Given the description of an element on the screen output the (x, y) to click on. 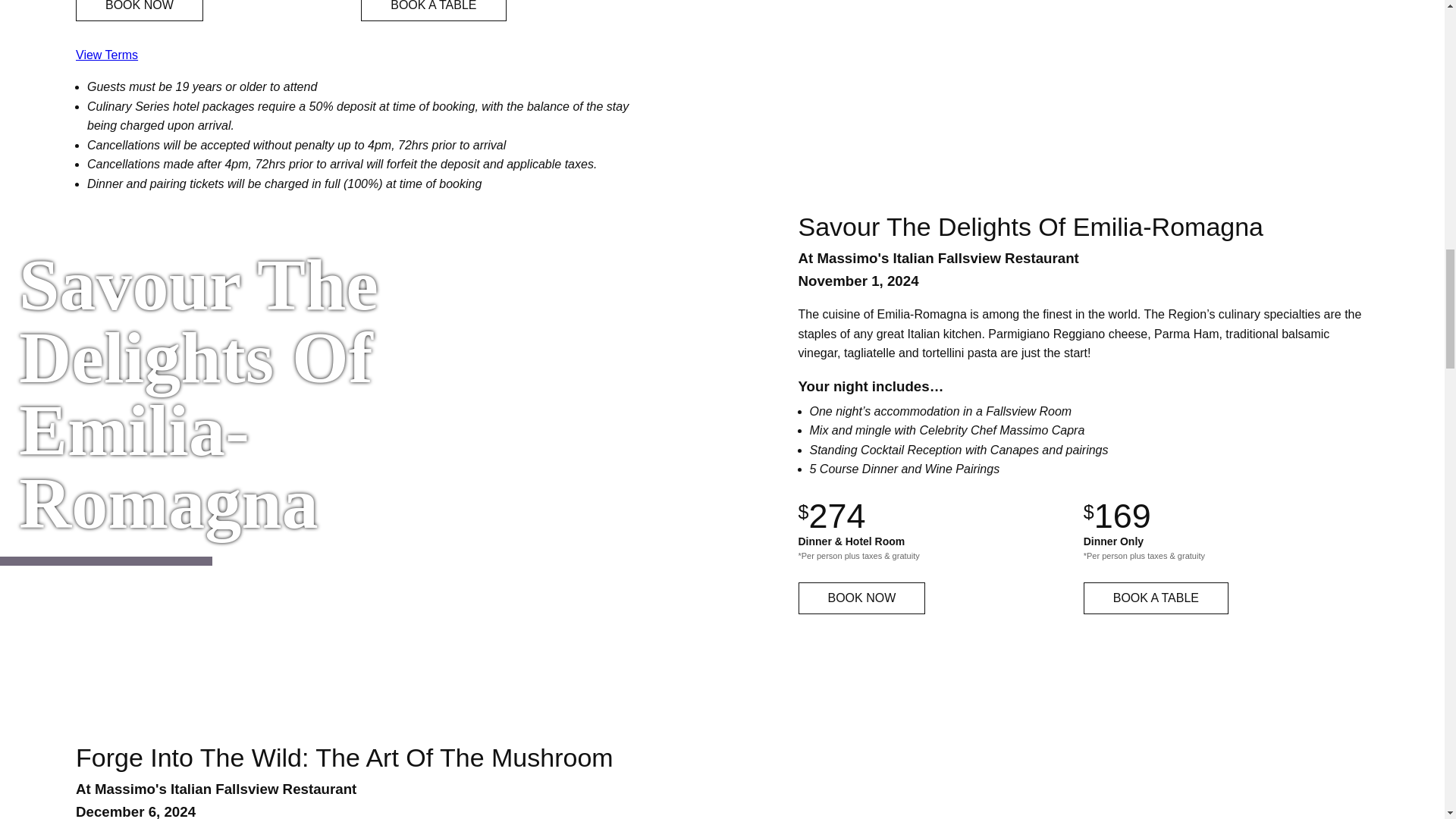
BOOK NOW (860, 598)
BOOK NOW (139, 10)
BOOK A TABLE (1155, 598)
View Terms (106, 54)
BOOK A TABLE (433, 10)
